Given the description of an element on the screen output the (x, y) to click on. 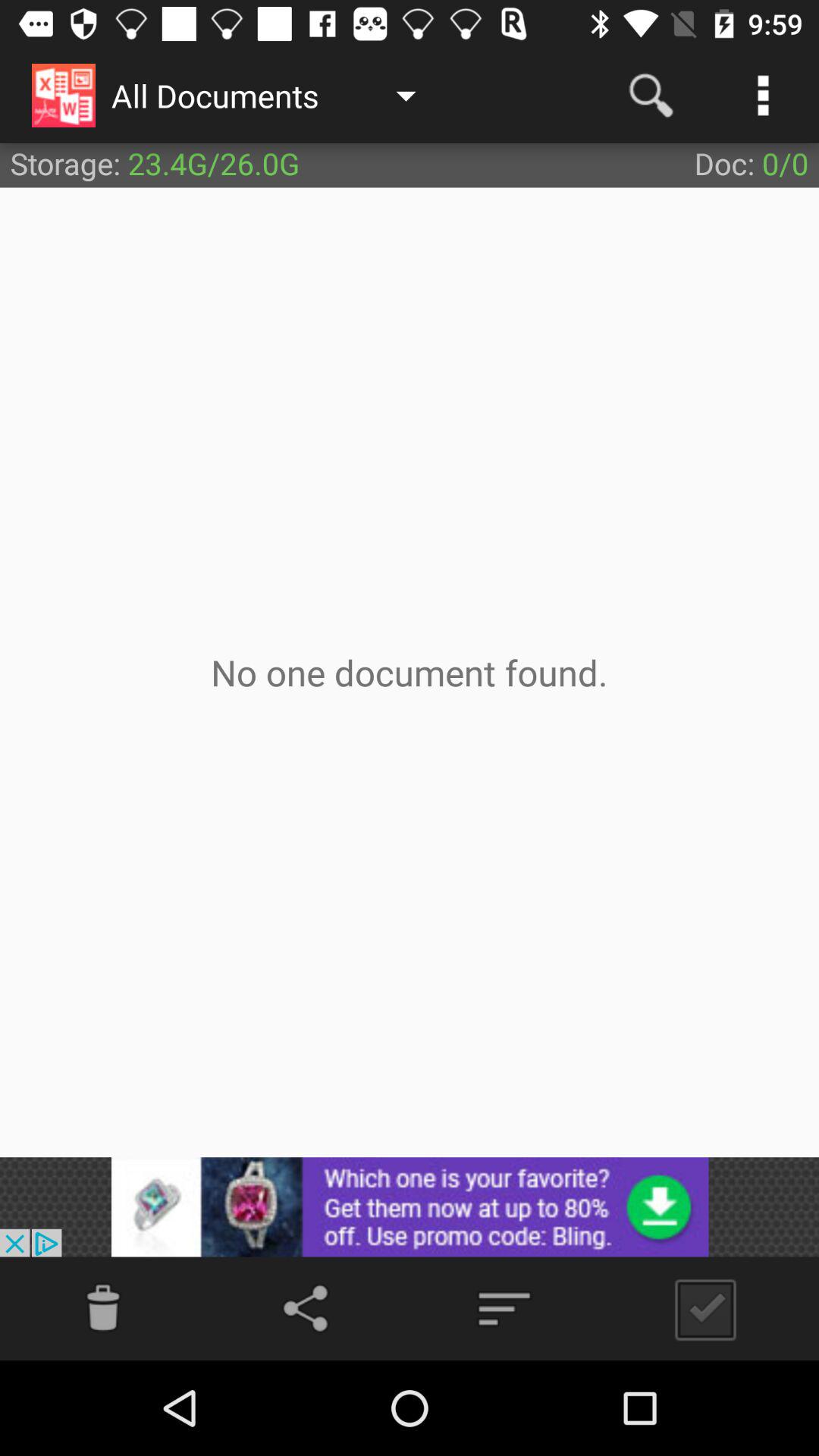
share button (308, 1308)
